Given the description of an element on the screen output the (x, y) to click on. 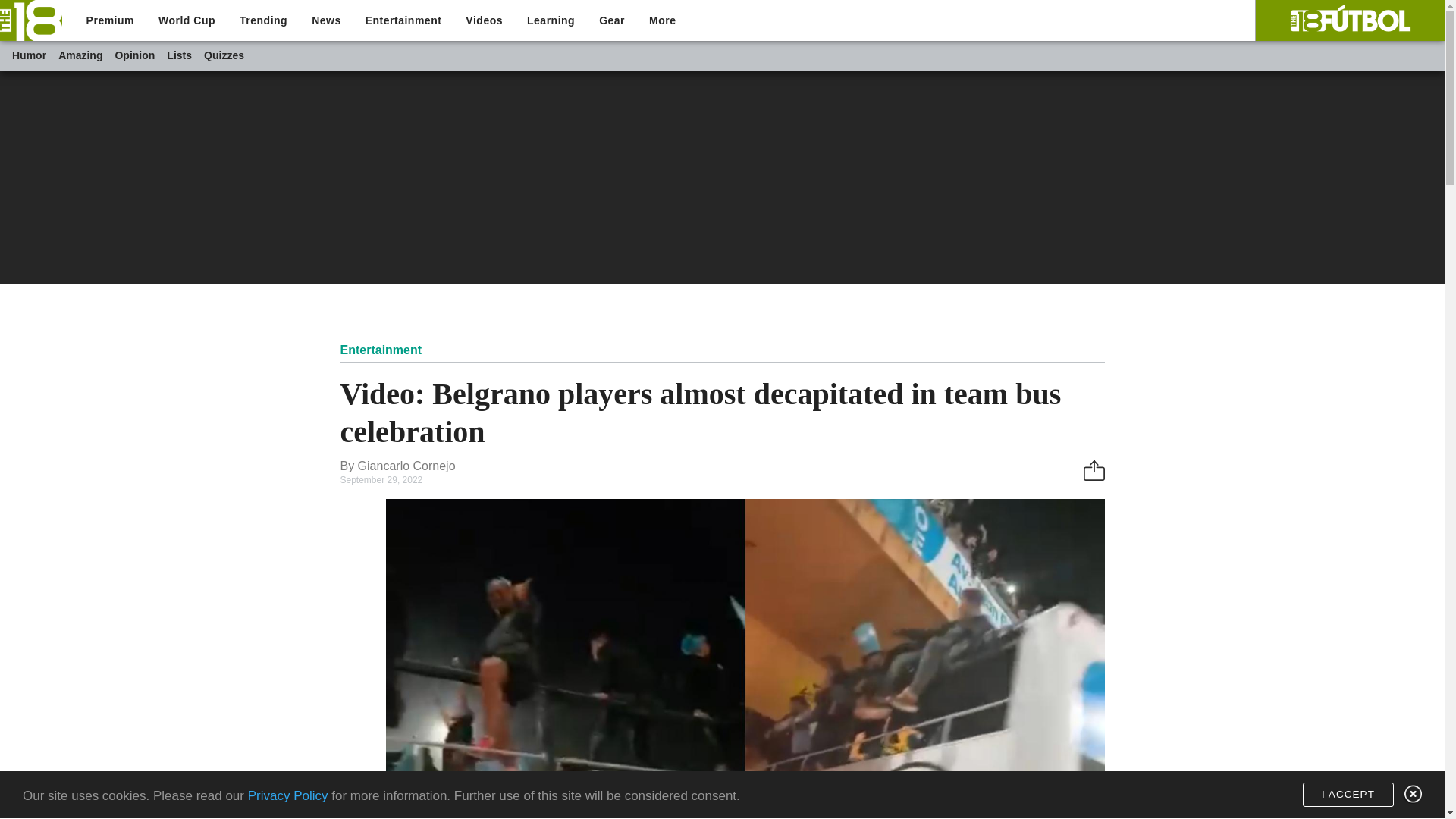
Opinion (134, 54)
Amazing (79, 54)
Premium (110, 20)
World Cup (187, 20)
Entertainment (403, 20)
Gear (611, 20)
Humor (28, 54)
Close (1411, 792)
I ACCEPT (1348, 794)
Privacy Policy (288, 795)
Trending (263, 20)
Quizzes (223, 54)
Learning (550, 20)
